Given the description of an element on the screen output the (x, y) to click on. 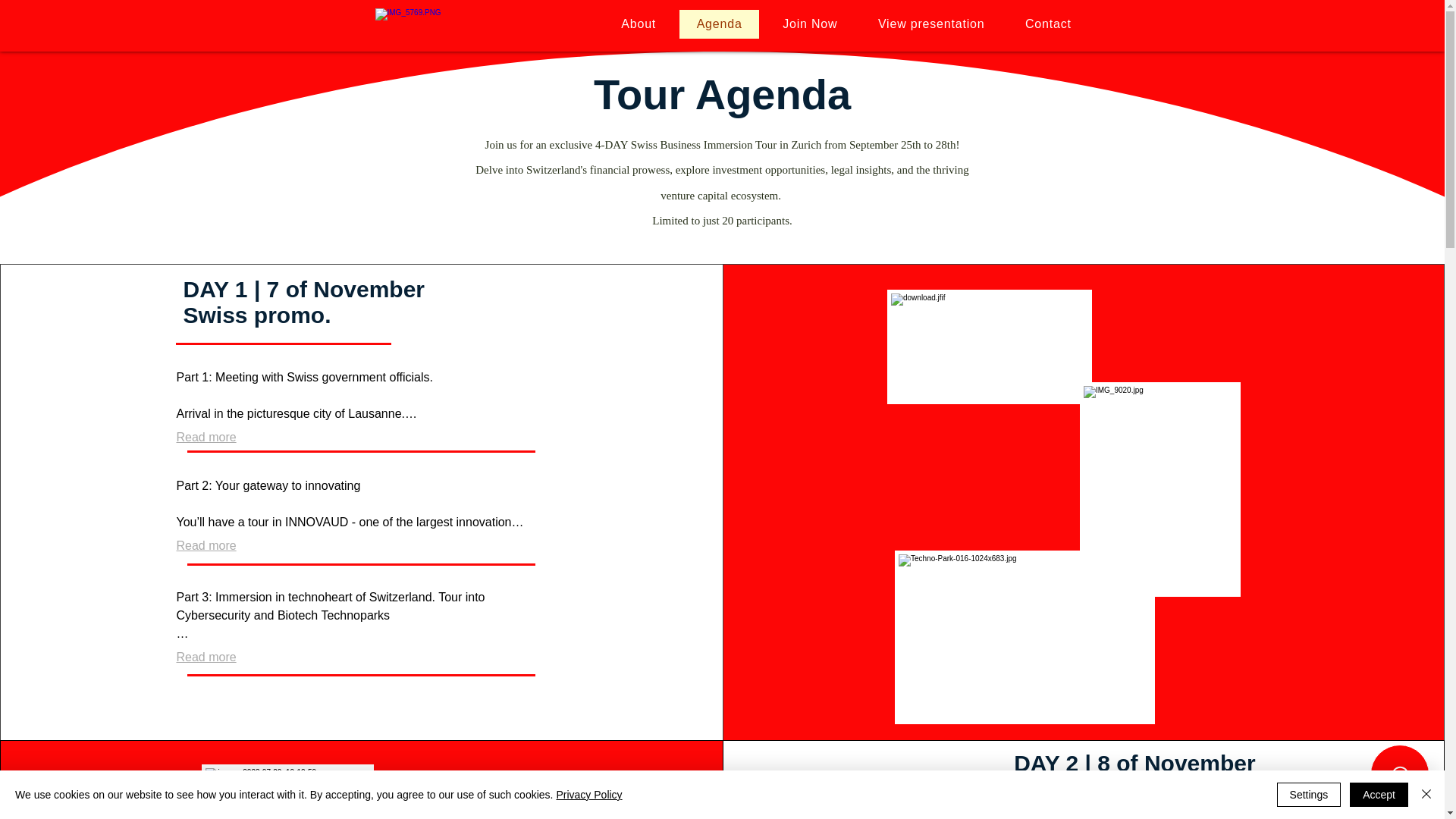
Join Now (809, 23)
Accept (1378, 794)
Read more (205, 437)
Read more (205, 545)
Agenda (719, 23)
Contact (1047, 23)
Read more (205, 657)
Settings (1308, 794)
Privacy Policy (588, 794)
About (638, 23)
